Given the description of an element on the screen output the (x, y) to click on. 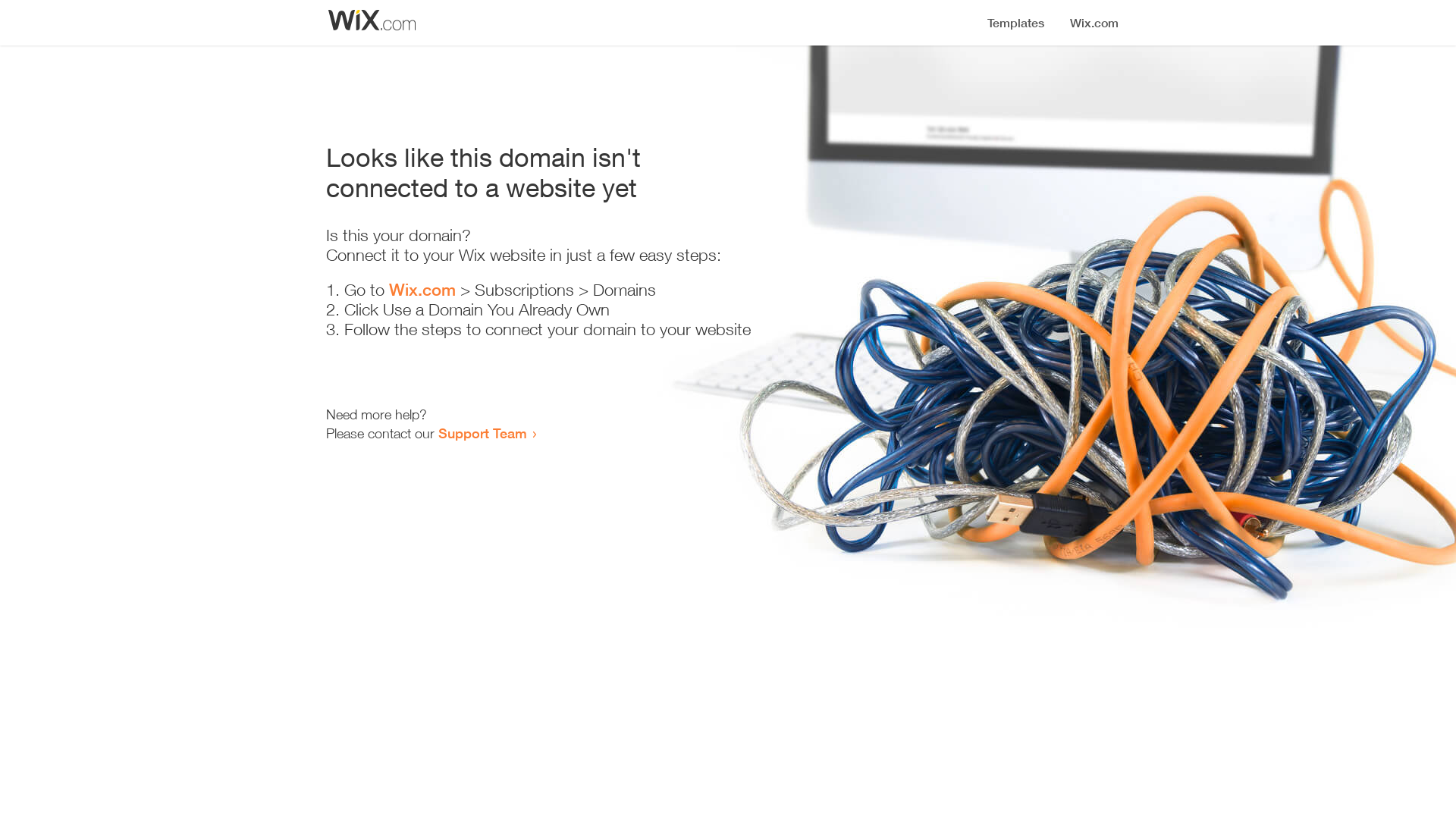
Wix.com Element type: text (422, 289)
Support Team Element type: text (482, 432)
